Given the description of an element on the screen output the (x, y) to click on. 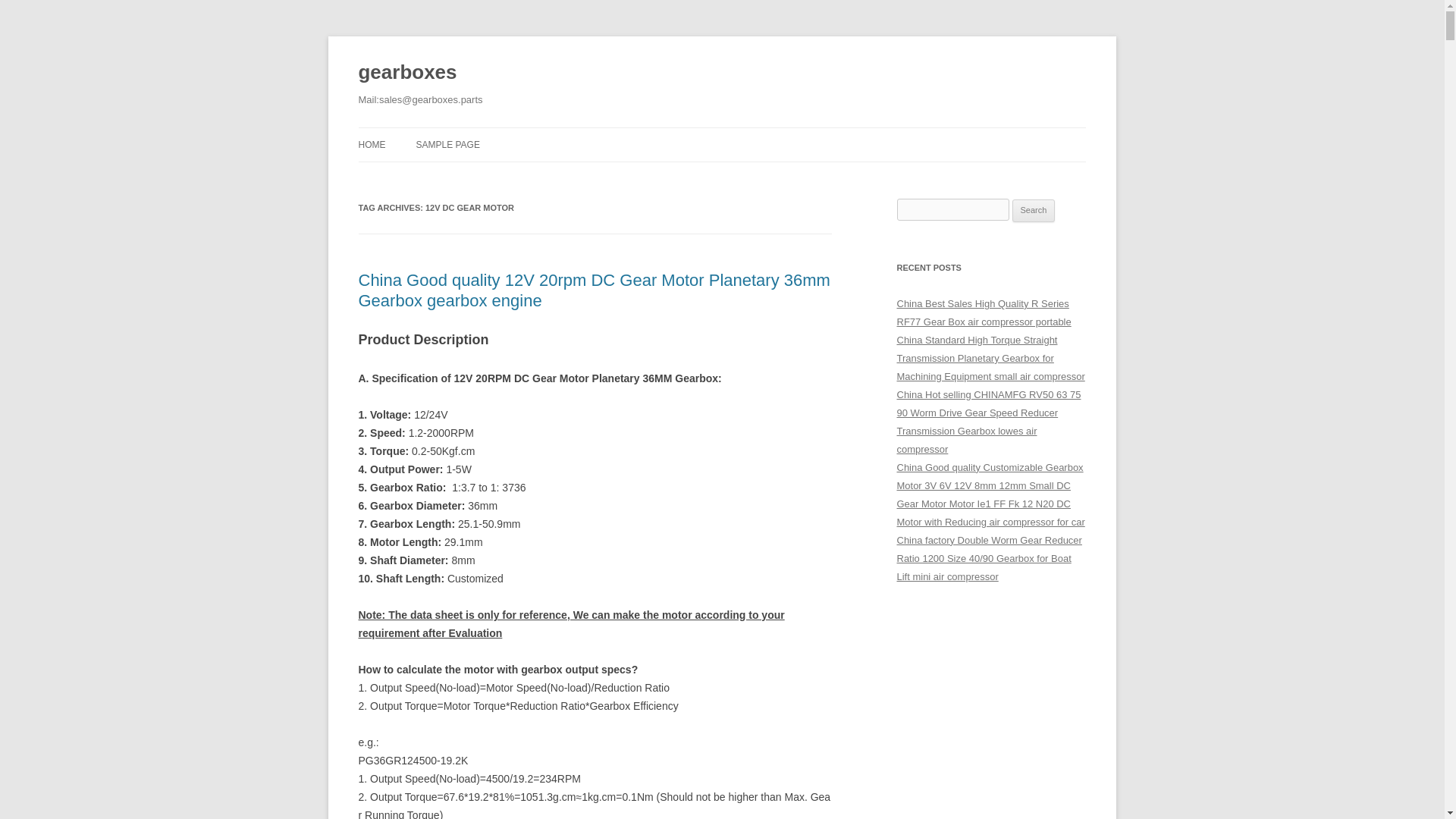
gearboxes (407, 72)
HOME (371, 144)
SAMPLE PAGE (446, 144)
Search (1033, 210)
gearboxes (407, 72)
